Given the description of an element on the screen output the (x, y) to click on. 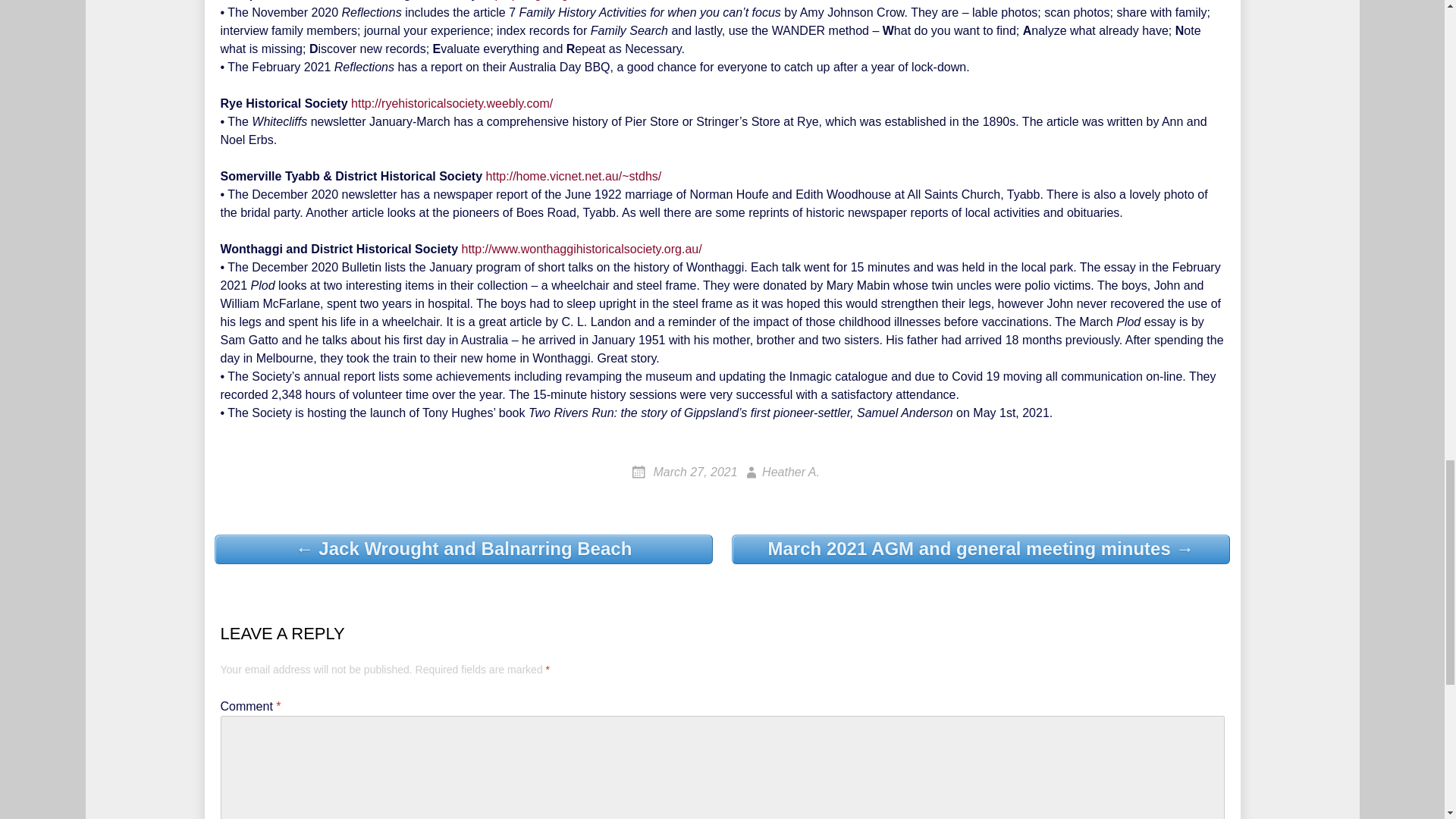
Heather A. (780, 472)
Heather A. (780, 472)
March 27, 2021 (684, 472)
March 27, 2021 (684, 472)
